Given the description of an element on the screen output the (x, y) to click on. 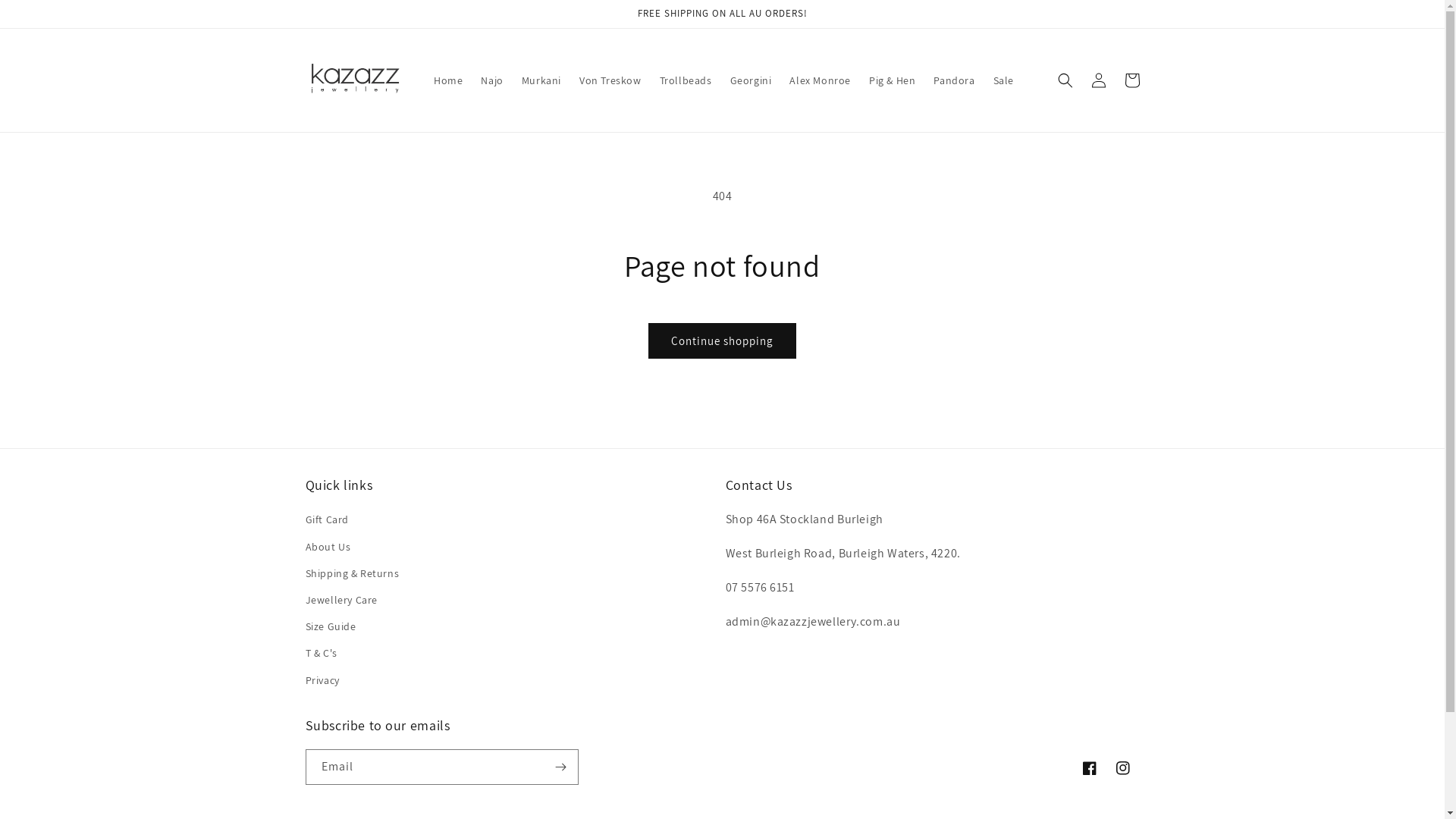
About Us Element type: text (327, 546)
Facebook Element type: text (1088, 767)
Gift Card Element type: text (326, 521)
Instagram Element type: text (1122, 767)
Alex Monroe Element type: text (819, 80)
Pig & Hen Element type: text (891, 80)
Size Guide Element type: text (329, 626)
Log in Element type: text (1097, 80)
Murkani Element type: text (541, 80)
T & C's Element type: text (320, 653)
Trollbeads Element type: text (685, 80)
Cart Element type: text (1131, 80)
Pandora Element type: text (953, 80)
Shipping & Returns Element type: text (351, 573)
Jewellery Care Element type: text (340, 599)
Privacy Element type: text (321, 680)
Sale Element type: text (1003, 80)
Home Element type: text (447, 80)
Georgini Element type: text (751, 80)
Continue shopping Element type: text (722, 340)
Von Treskow Element type: text (610, 80)
Najo Element type: text (491, 80)
